Given the description of an element on the screen output the (x, y) to click on. 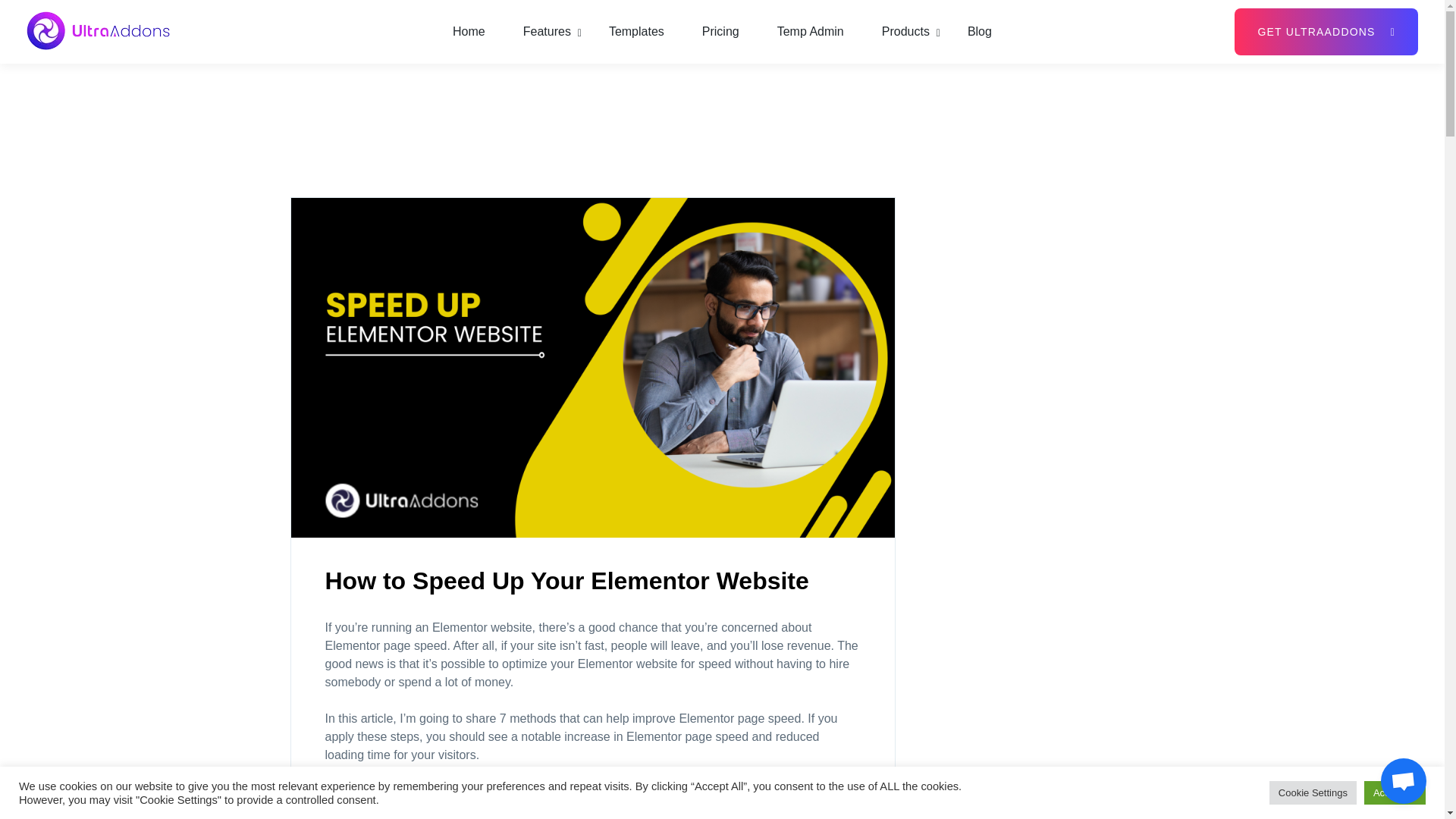
Temp Admin (810, 31)
1. Use a Fast Web Host (419, 817)
Templates (636, 31)
Products (906, 31)
Features (546, 31)
GET ULTRAADDONS (1326, 31)
Ultra Addons (91, 63)
1. Use a Fast Web Host (419, 817)
